Given the description of an element on the screen output the (x, y) to click on. 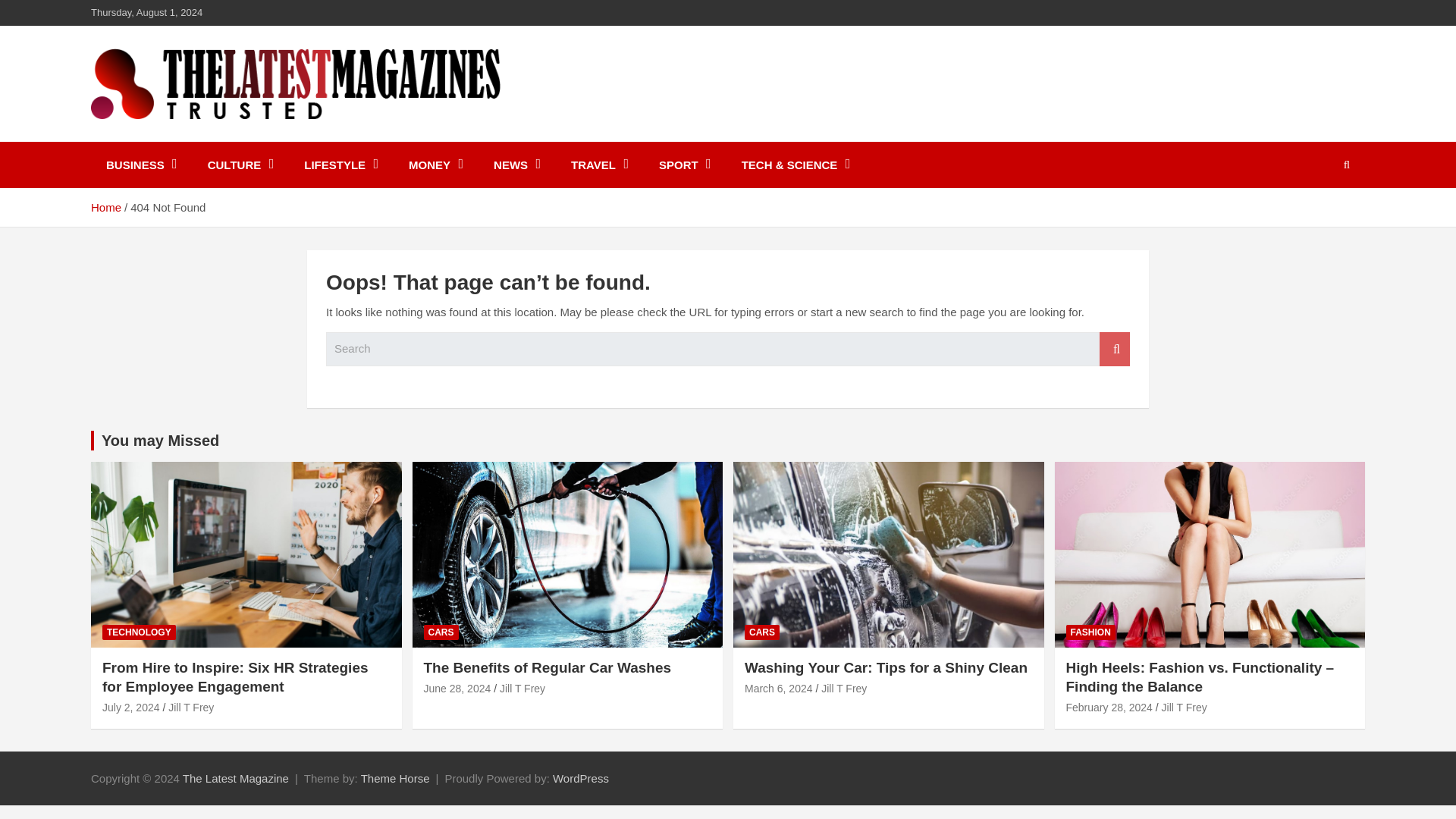
Washing Your Car: Tips for a Shiny Clean (778, 688)
MONEY (436, 164)
The Latest Magazine (238, 138)
LIFESTYLE (340, 164)
Theme Horse (395, 778)
The Benefits of Regular Car Washes (456, 688)
The Latest Magazine (235, 778)
BUSINESS (141, 164)
WordPress (580, 778)
CULTURE (240, 164)
